Given the description of an element on the screen output the (x, y) to click on. 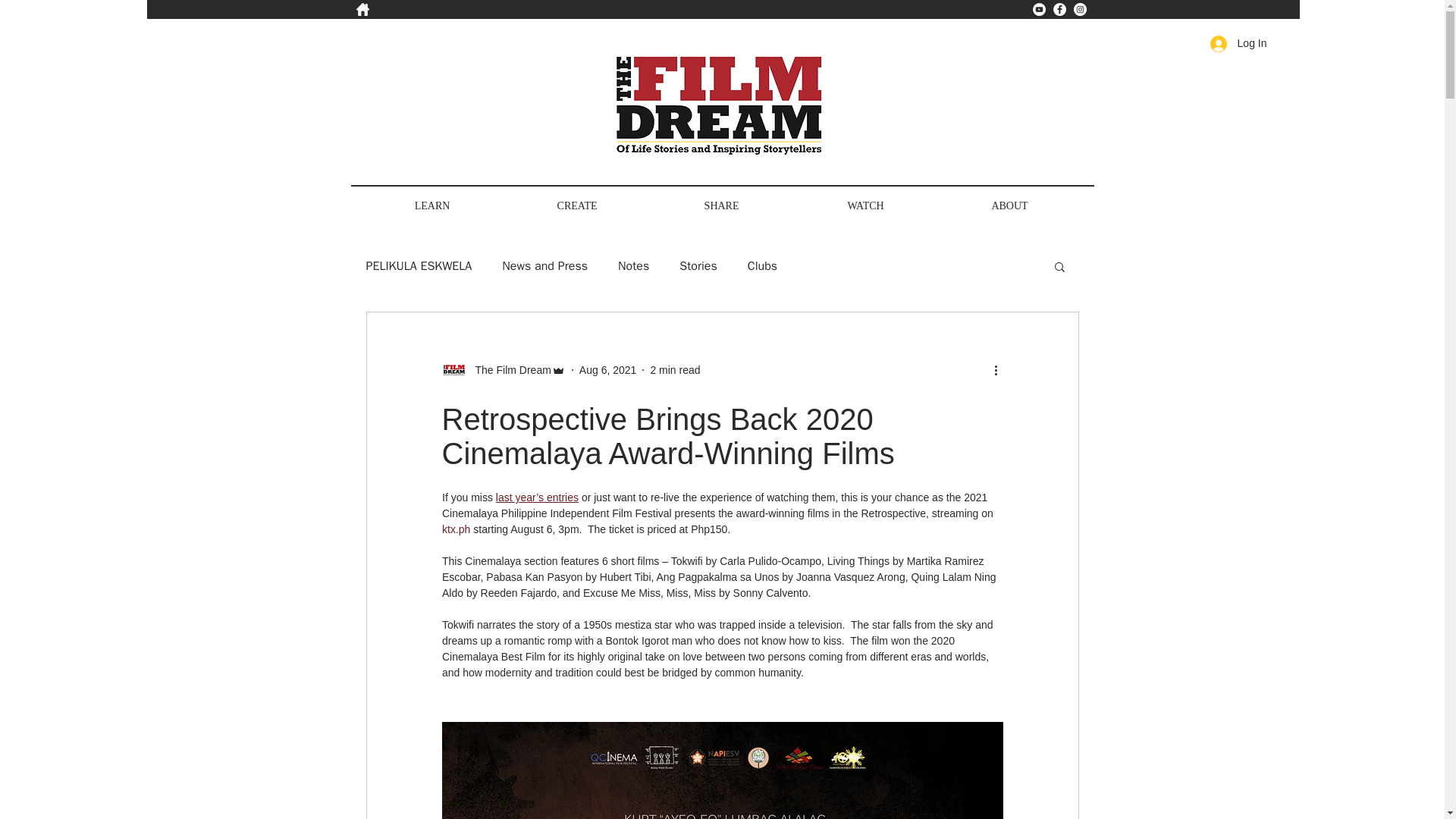
Stories (698, 265)
The Film Dream (507, 370)
Clubs (762, 265)
ktx.ph (454, 529)
2 min read (674, 369)
PELIKULA ESKWELA (418, 265)
Notes (633, 265)
The Film Dream (502, 369)
Log In (1238, 43)
News and Press (545, 265)
